Given the description of an element on the screen output the (x, y) to click on. 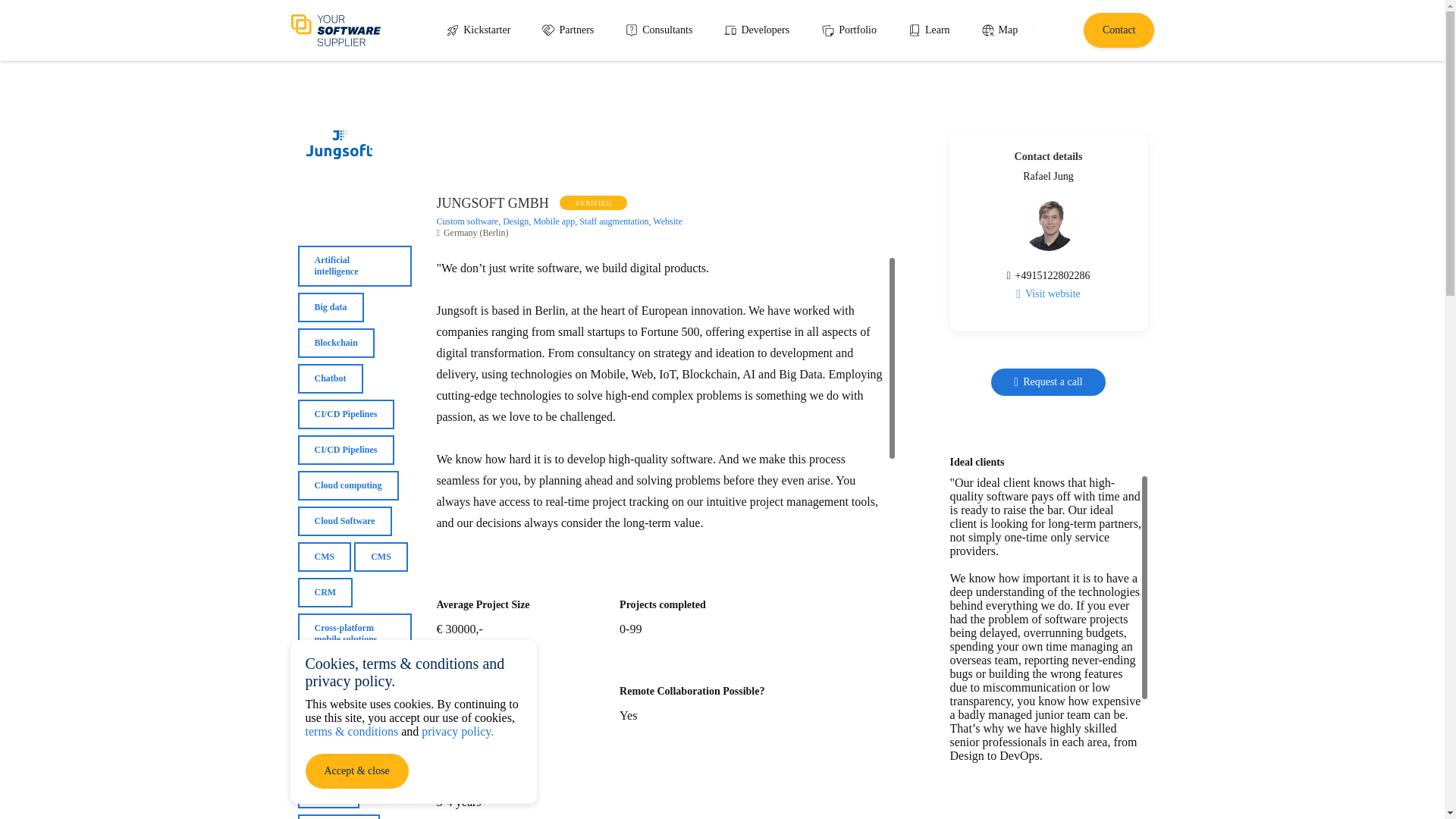
privacy policy. (457, 730)
Request a call (1048, 381)
Visit website (1048, 294)
Developers (755, 29)
Portfolio (847, 30)
Map (998, 29)
KEEP LOOKING (337, 94)
Learn (928, 29)
Contact (1118, 30)
Partners (567, 29)
Kickstarter (478, 29)
Consultants (658, 29)
